Given the description of an element on the screen output the (x, y) to click on. 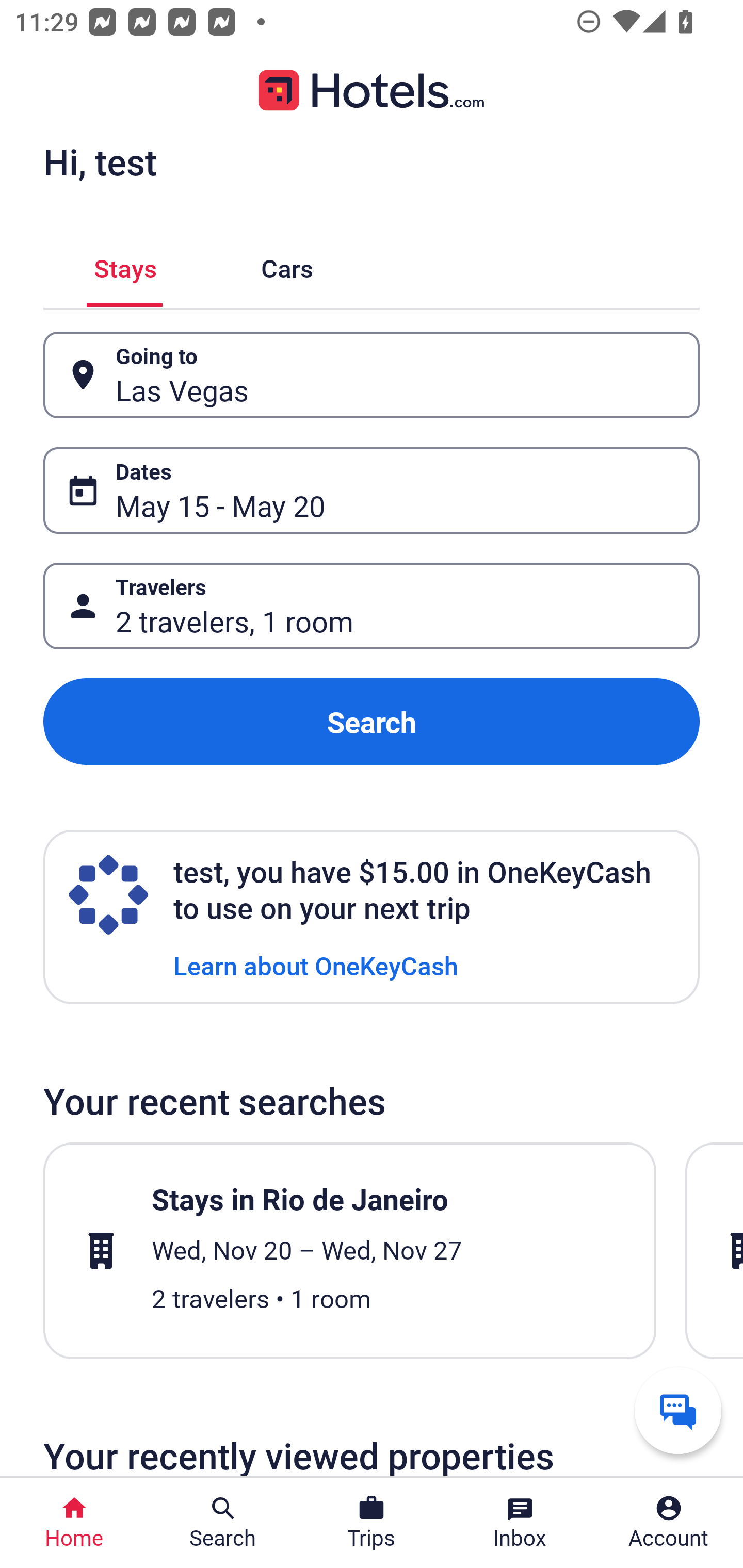
Hi, test (99, 161)
Cars (286, 265)
Going to Button Las Vegas (371, 375)
Dates Button May 15 - May 20 (371, 489)
Travelers Button 2 travelers, 1 room (371, 605)
Search (371, 721)
Learn about OneKeyCash Learn about OneKeyCash Link (315, 964)
Get help from a virtual agent (677, 1410)
Search Search Button (222, 1522)
Trips Trips Button (371, 1522)
Inbox Inbox Button (519, 1522)
Account Profile. Button (668, 1522)
